Given the description of an element on the screen output the (x, y) to click on. 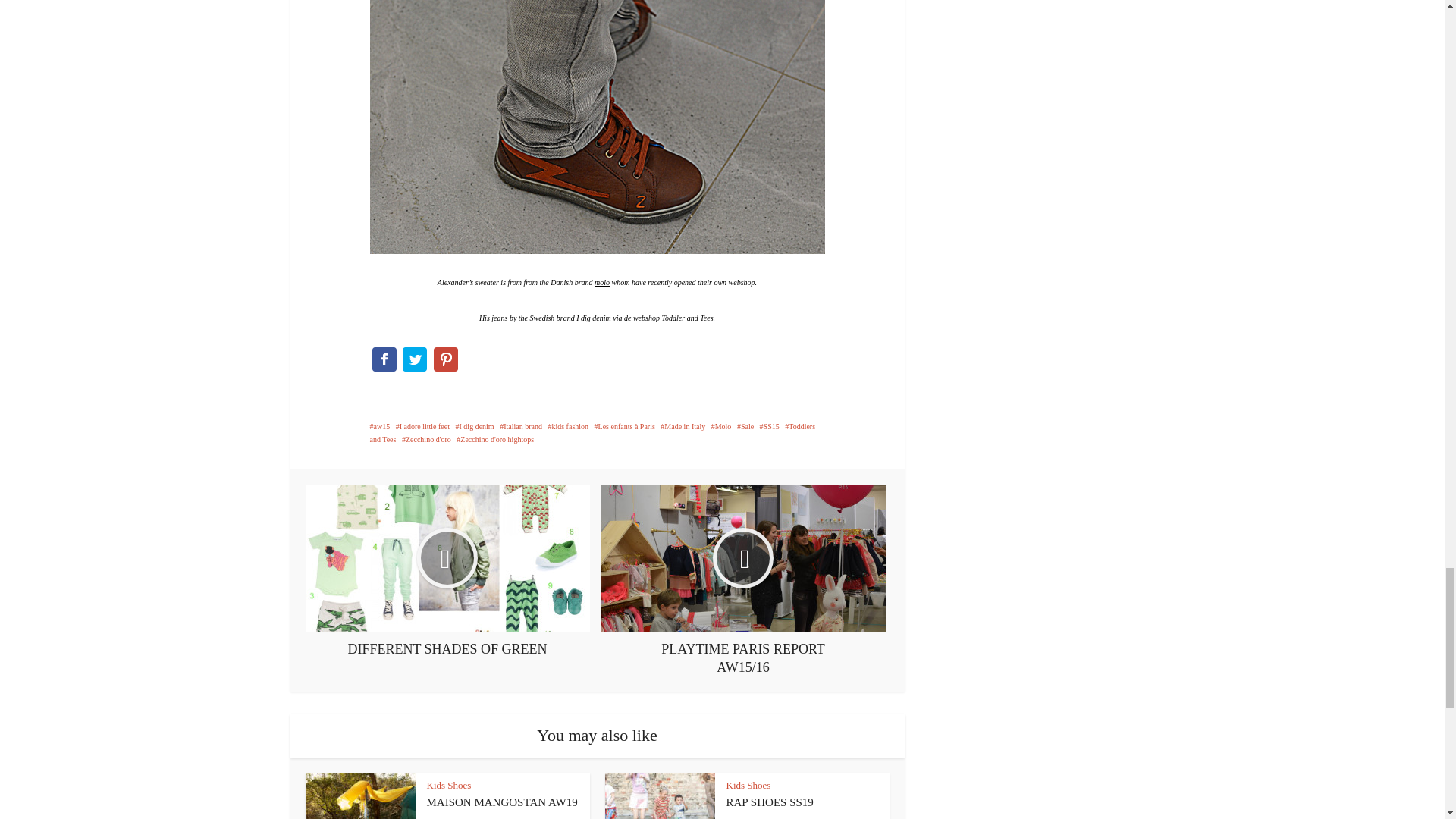
RAP SHOES SS19 (769, 802)
I dig denim (593, 317)
MAISON MANGOSTAN AW19 (501, 802)
molo (602, 282)
